Given the description of an element on the screen output the (x, y) to click on. 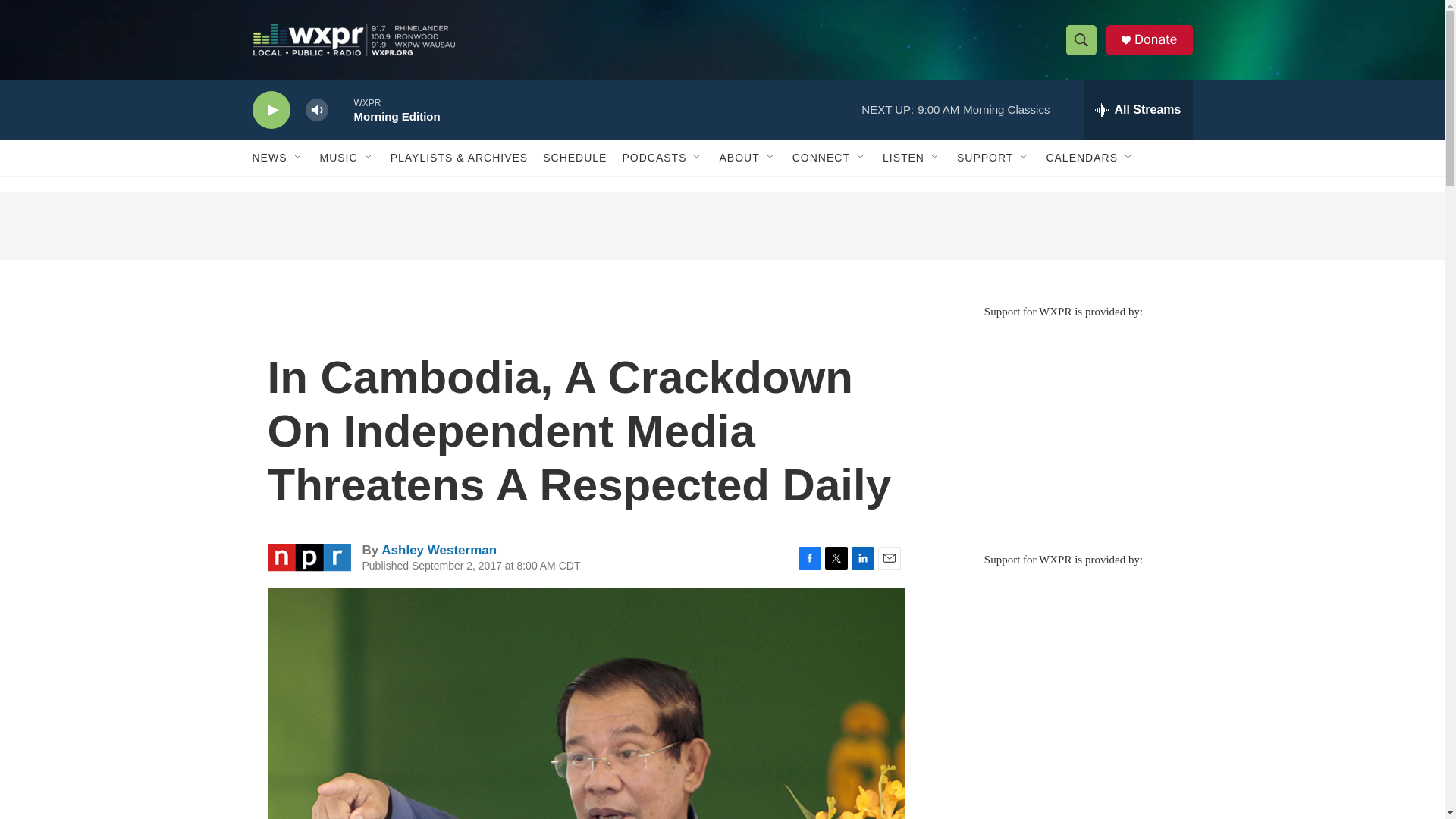
3rd party ad content (721, 225)
3rd party ad content (1062, 677)
3rd party ad content (1062, 428)
